Given the description of an element on the screen output the (x, y) to click on. 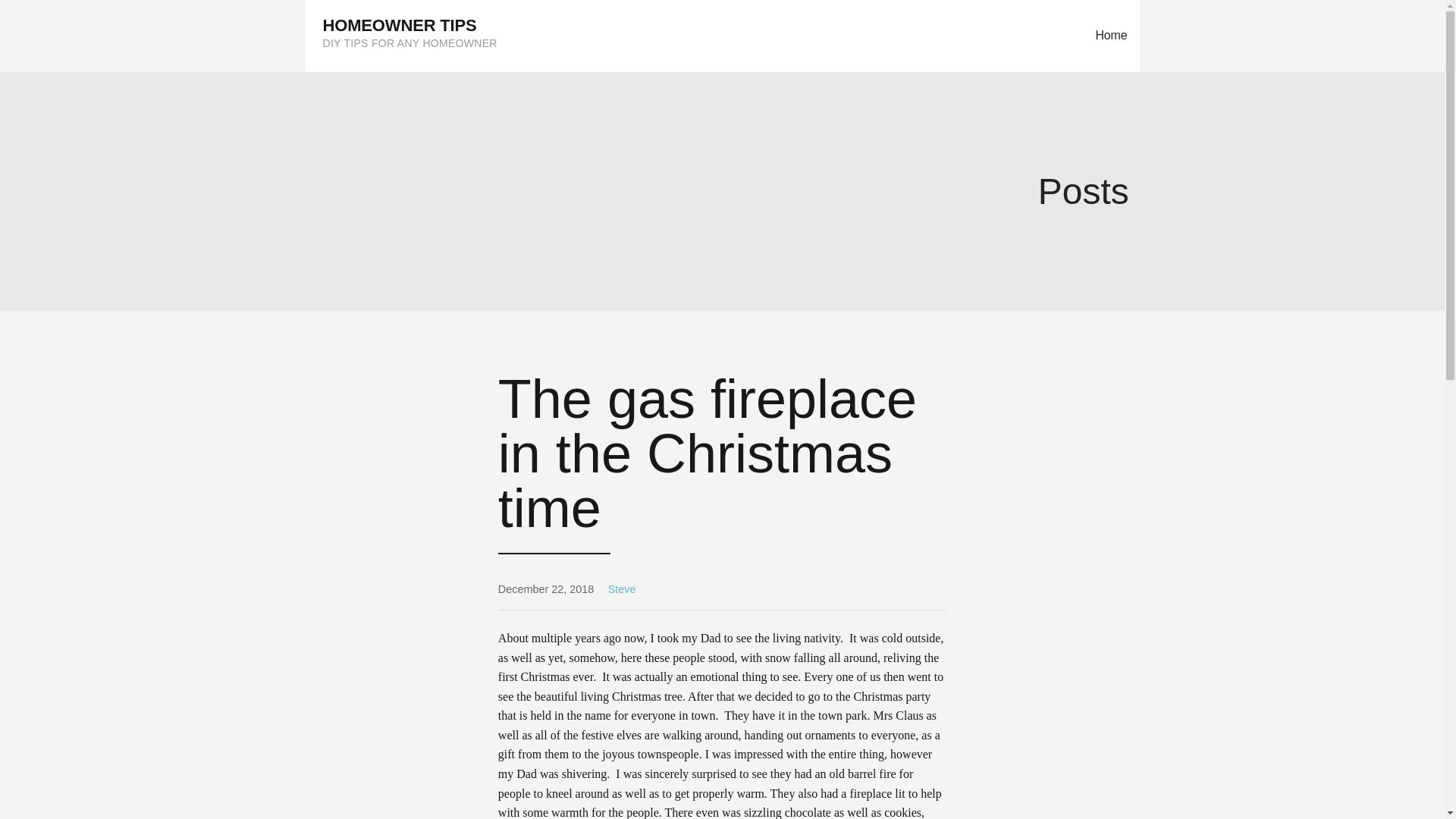
HOMEOWNER TIPS (400, 25)
Posts by Steve (622, 589)
Steve (622, 589)
